Given the description of an element on the screen output the (x, y) to click on. 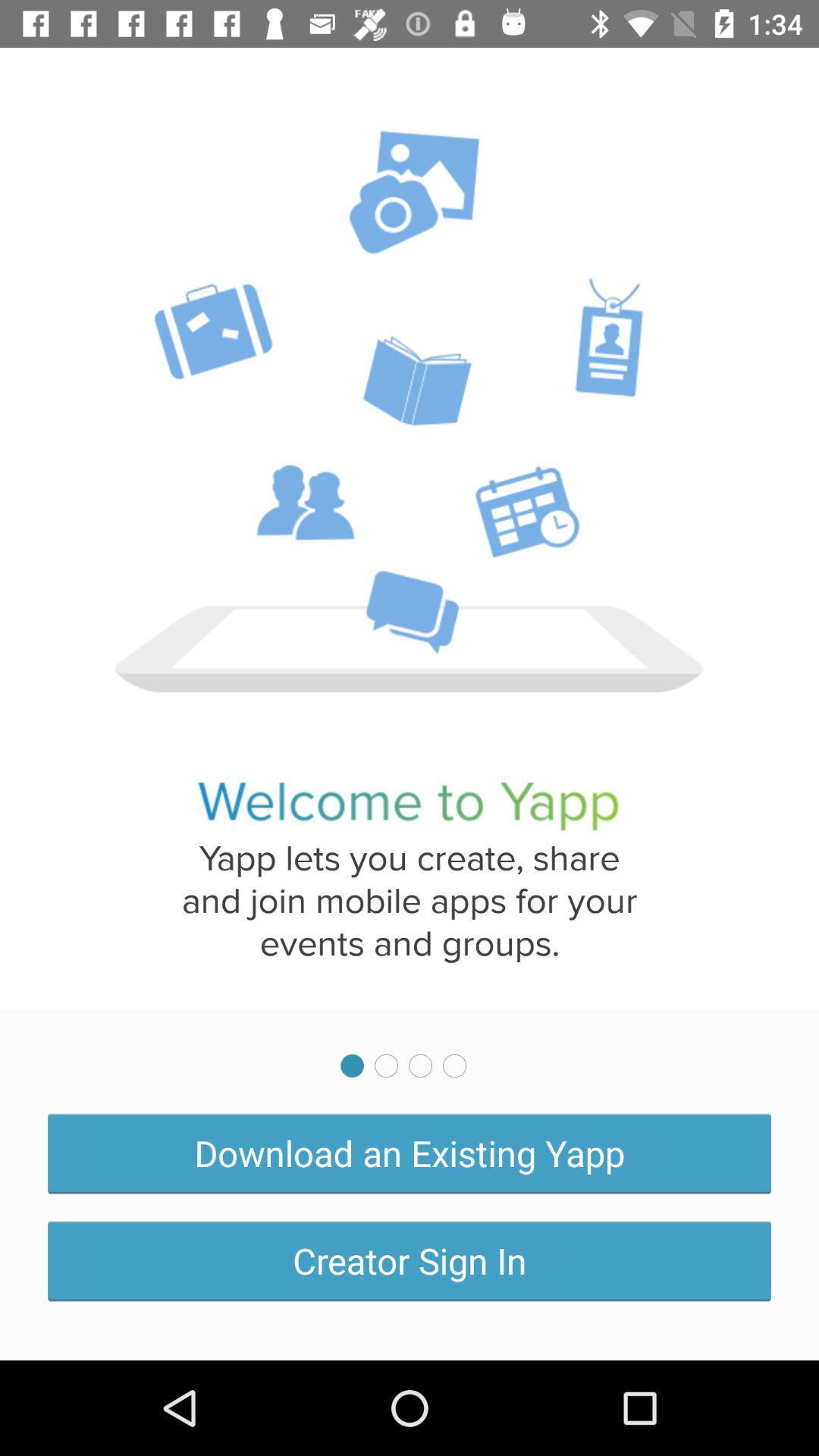
swipe until download an existing (409, 1153)
